Given the description of an element on the screen output the (x, y) to click on. 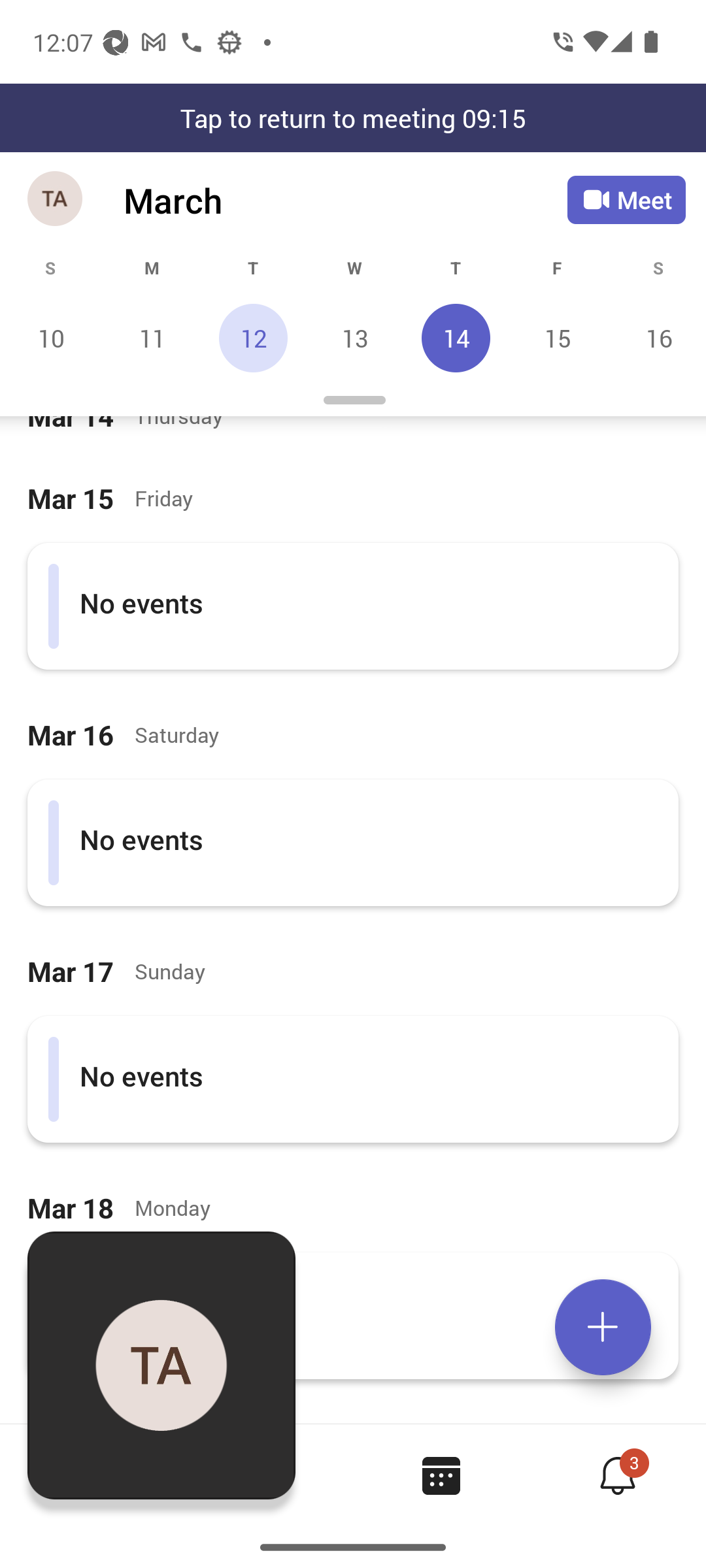
Tap to return to meeting 09:15 (353, 117)
Navigation (56, 199)
Meet Meet now or join with an ID (626, 199)
March March Calendar Agenda View (345, 199)
Sunday, March 10 10 (50, 337)
Monday, March 11 11 (151, 337)
Tuesday, March 12, Today 12 (253, 337)
Wednesday, March 13 13 (354, 337)
Thursday, March 14, Selected 14 (455, 337)
Friday, March 15 15 (556, 337)
Saturday, March 16 16 (656, 337)
Expand meetings menu (602, 1327)
Calendar tab, 3 of 4 (441, 1475)
Activity tab,4 of 4, not selected, 3 new 3 (617, 1475)
